Given the description of an element on the screen output the (x, y) to click on. 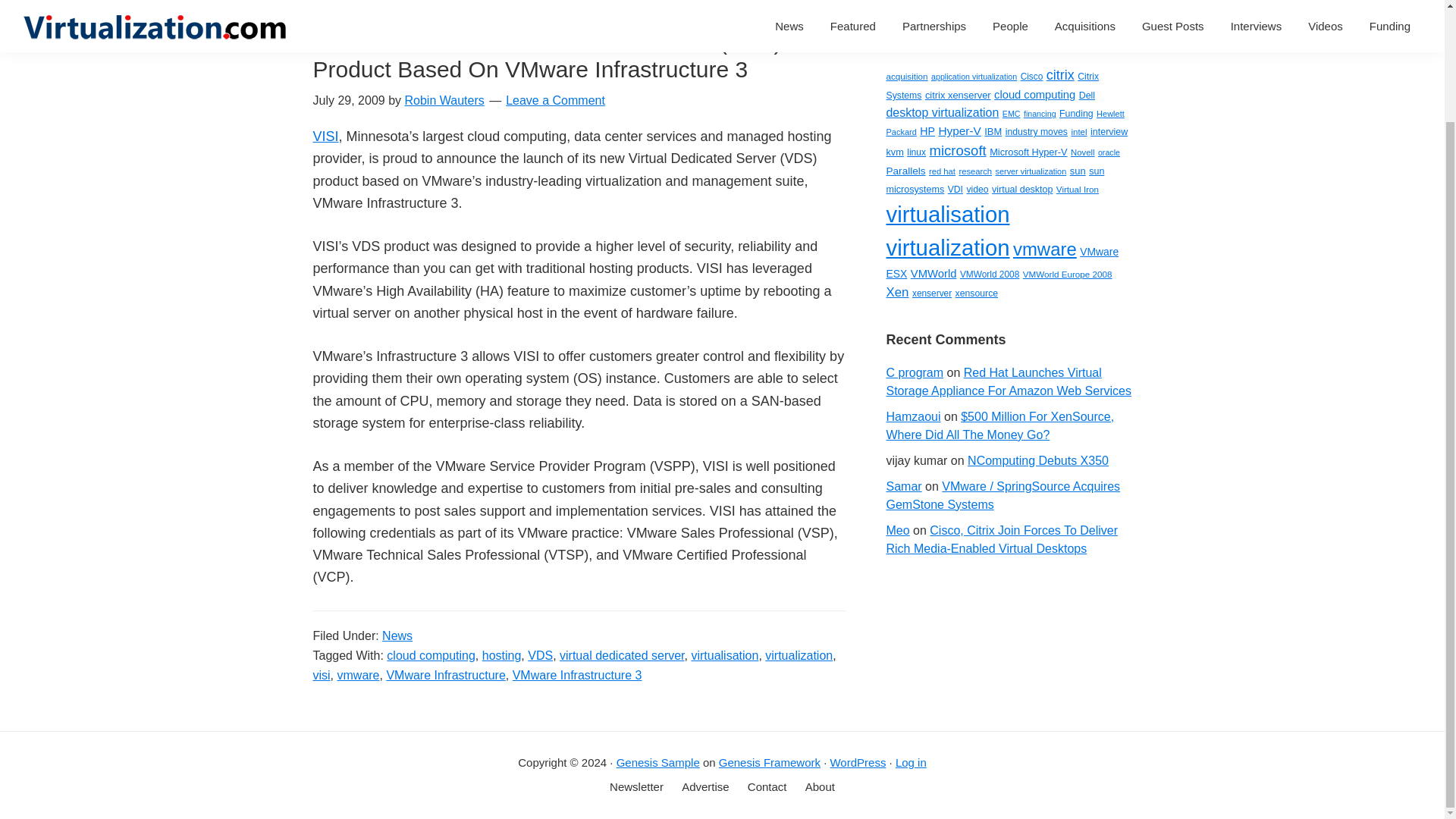
virtualization (798, 654)
VDS (540, 654)
VMware Infrastructure (445, 674)
Cisco (1031, 76)
cloud computing (1034, 94)
Leave a Comment (555, 100)
EMC (1011, 112)
visi (321, 674)
VISI (325, 136)
application virtualization (973, 76)
